Given the description of an element on the screen output the (x, y) to click on. 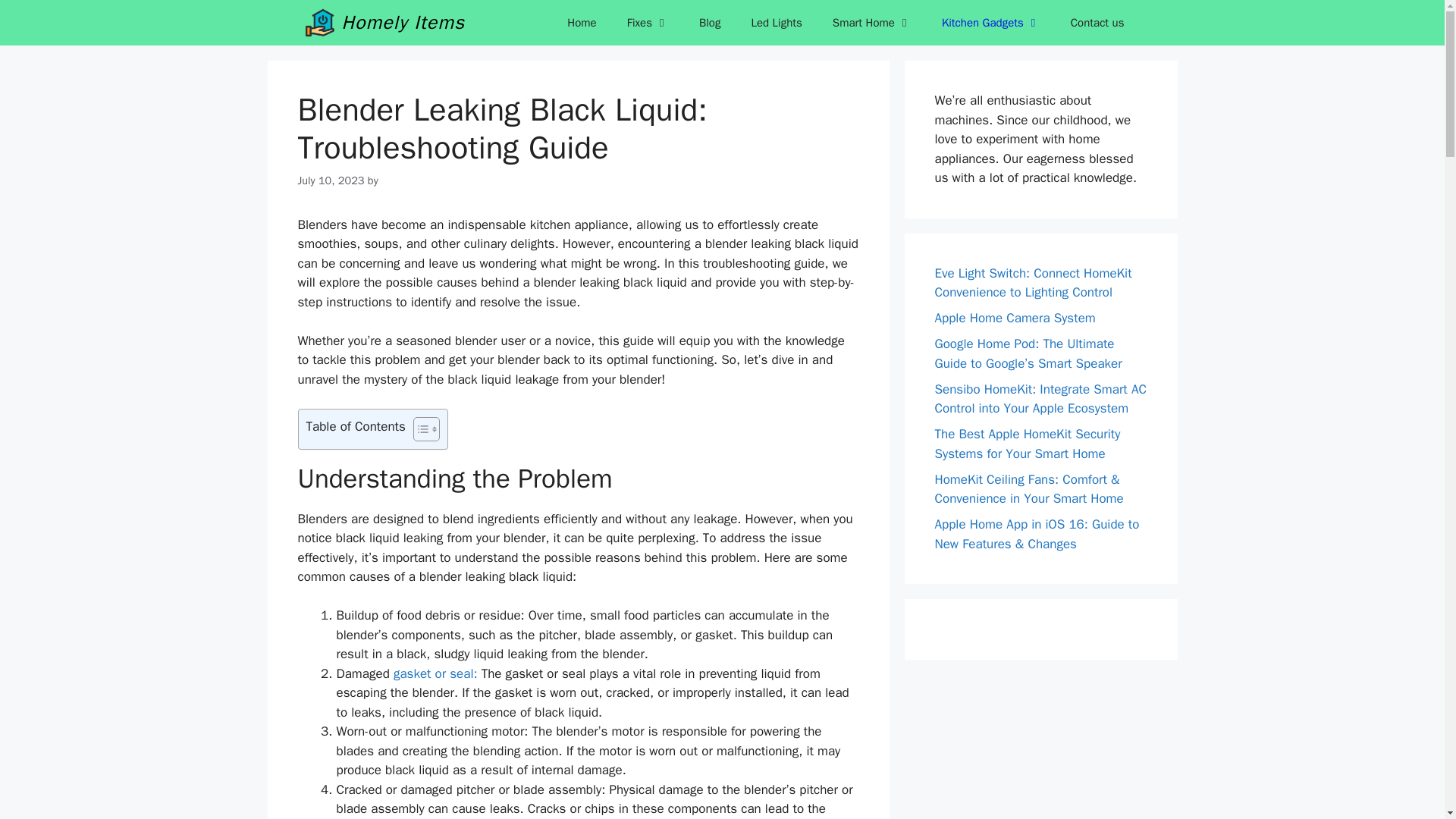
Home (581, 22)
Homely Items (402, 22)
Contact us (1097, 22)
gasket or seal: (435, 673)
Fixes (647, 22)
Led Lights (775, 22)
Blog (709, 22)
Smart Home (871, 22)
Apple Home Camera System (1014, 317)
Kitchen Gadgets (990, 22)
